Given the description of an element on the screen output the (x, y) to click on. 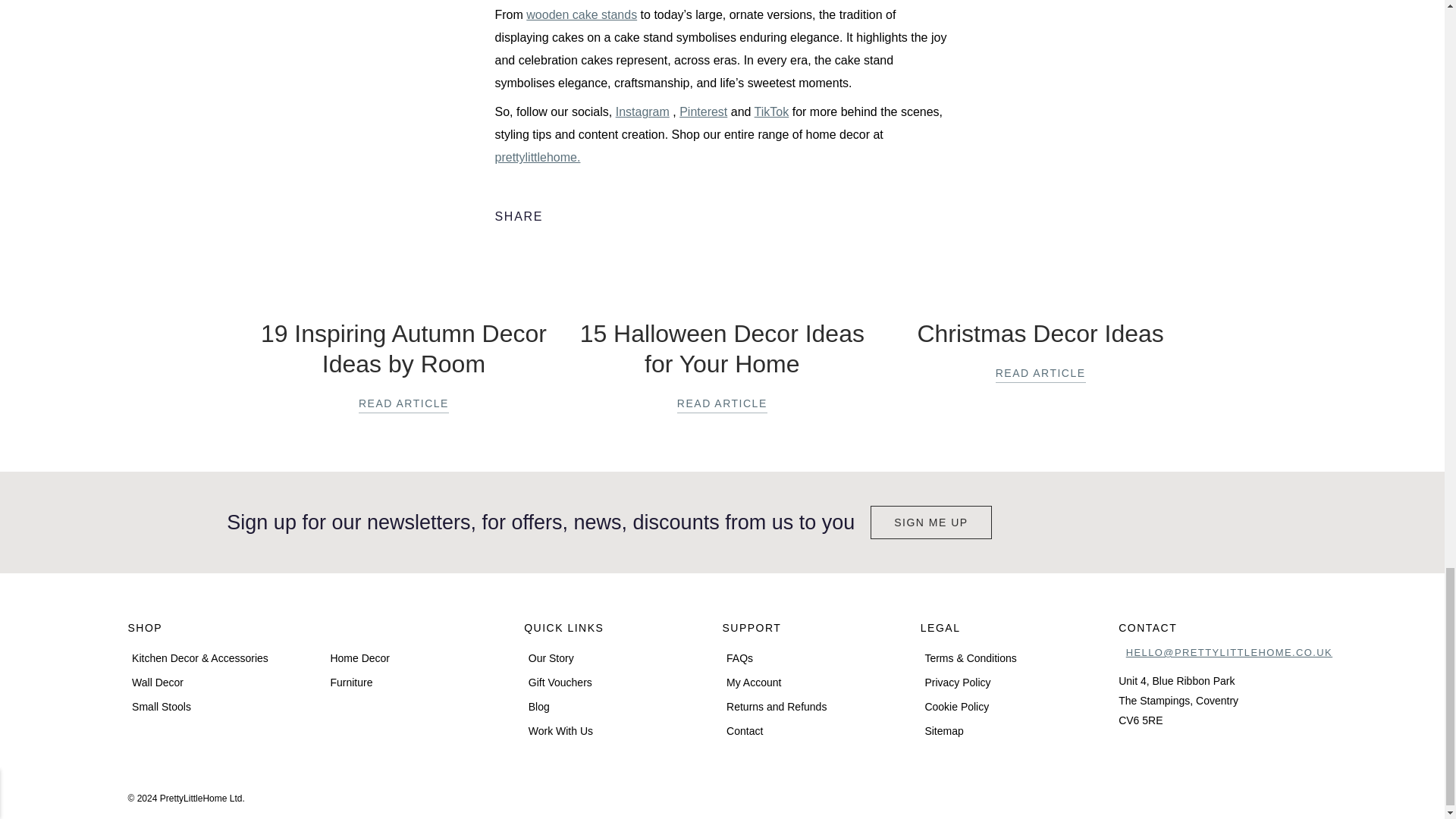
Follow us on pinterest (1213, 790)
Follow us on instagram (1174, 790)
Follow us on facebook (1135, 790)
